Given the description of an element on the screen output the (x, y) to click on. 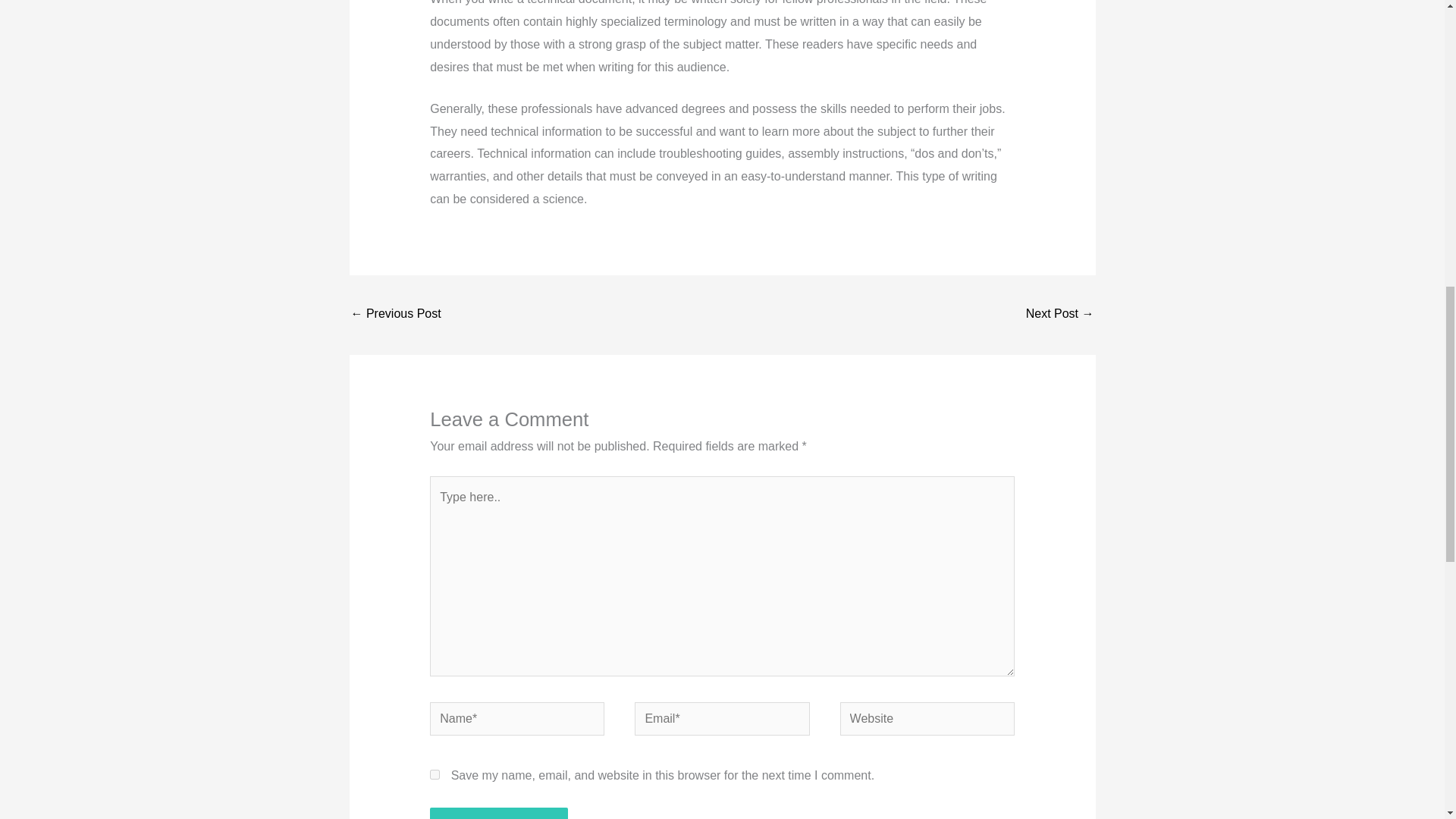
yes (434, 774)
Why Article Length Matters (395, 315)
Maximizing Your Writing Efficiency With Article Cubes (1060, 315)
